Given the description of an element on the screen output the (x, y) to click on. 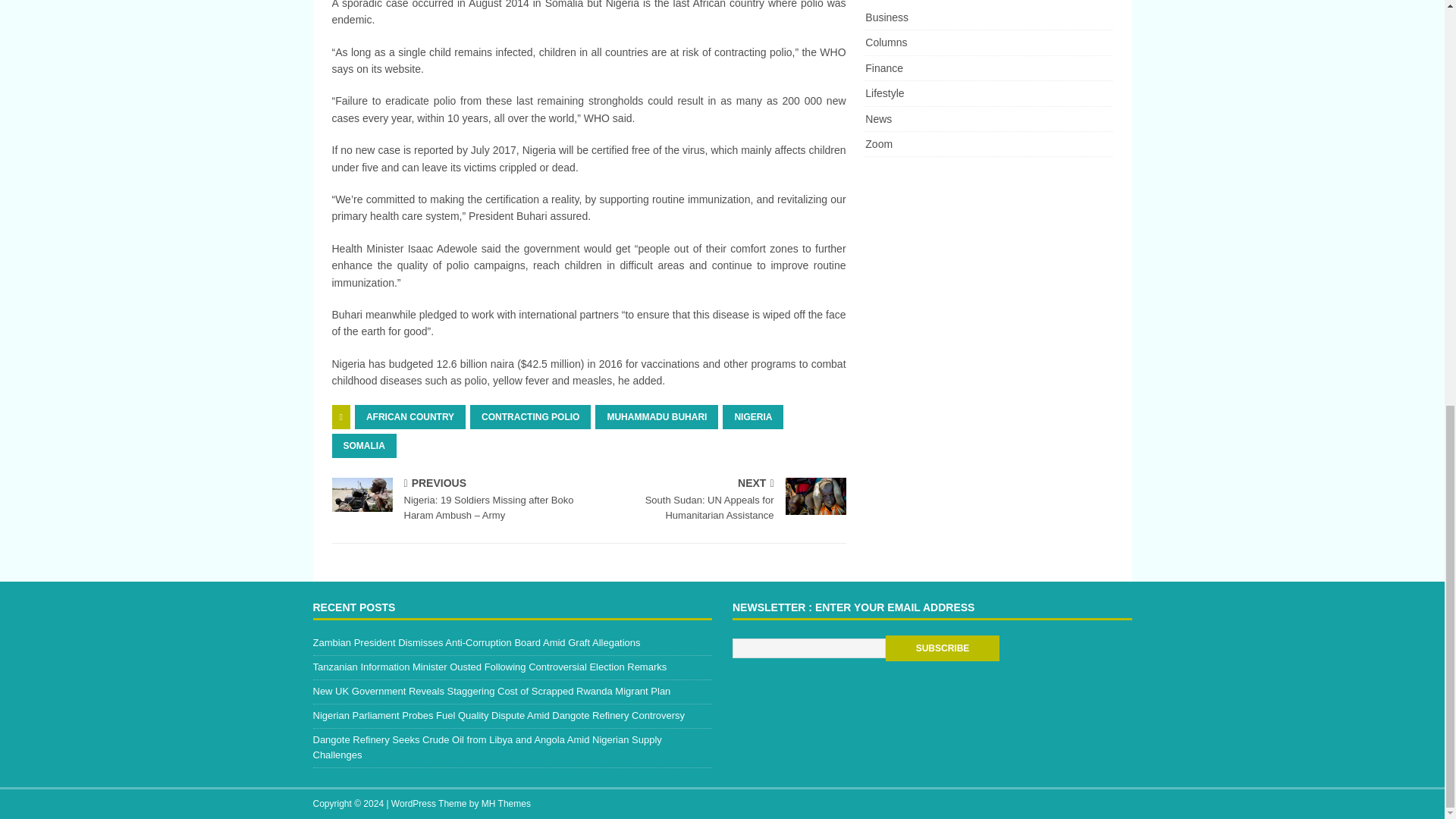
AFRICAN COUNTRY (720, 500)
SOMALIA (410, 416)
CONTRACTING POLIO (363, 445)
MUHAMMADU BUHARI (530, 416)
NIGERIA (656, 416)
Subscribe (752, 416)
